Given the description of an element on the screen output the (x, y) to click on. 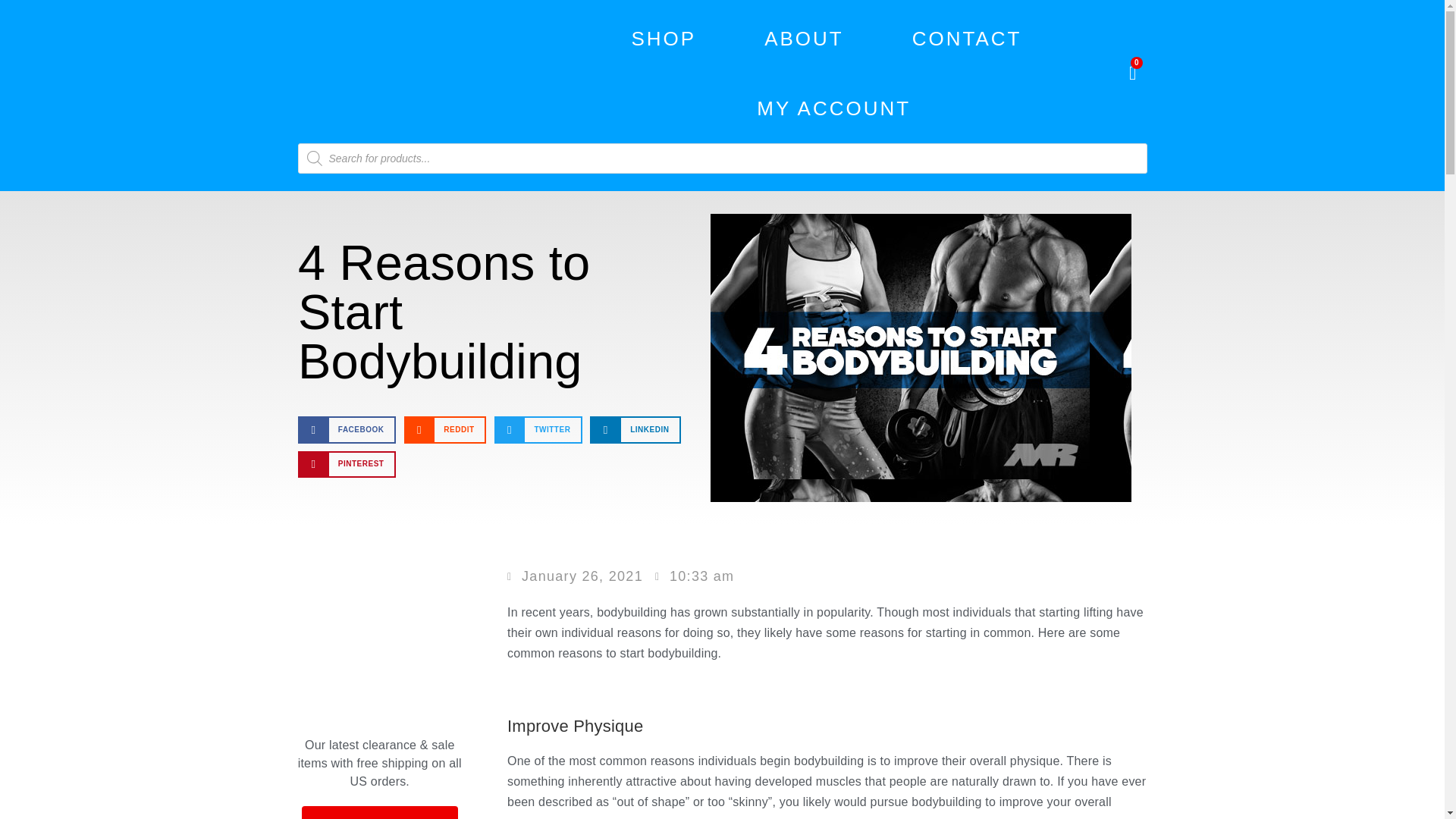
About Muscle Research (804, 38)
Shop Muscle Research (663, 38)
CONTACT (966, 38)
MY ACCOUNT (833, 108)
ABOUT (804, 38)
SHOP (663, 38)
